Given the description of an element on the screen output the (x, y) to click on. 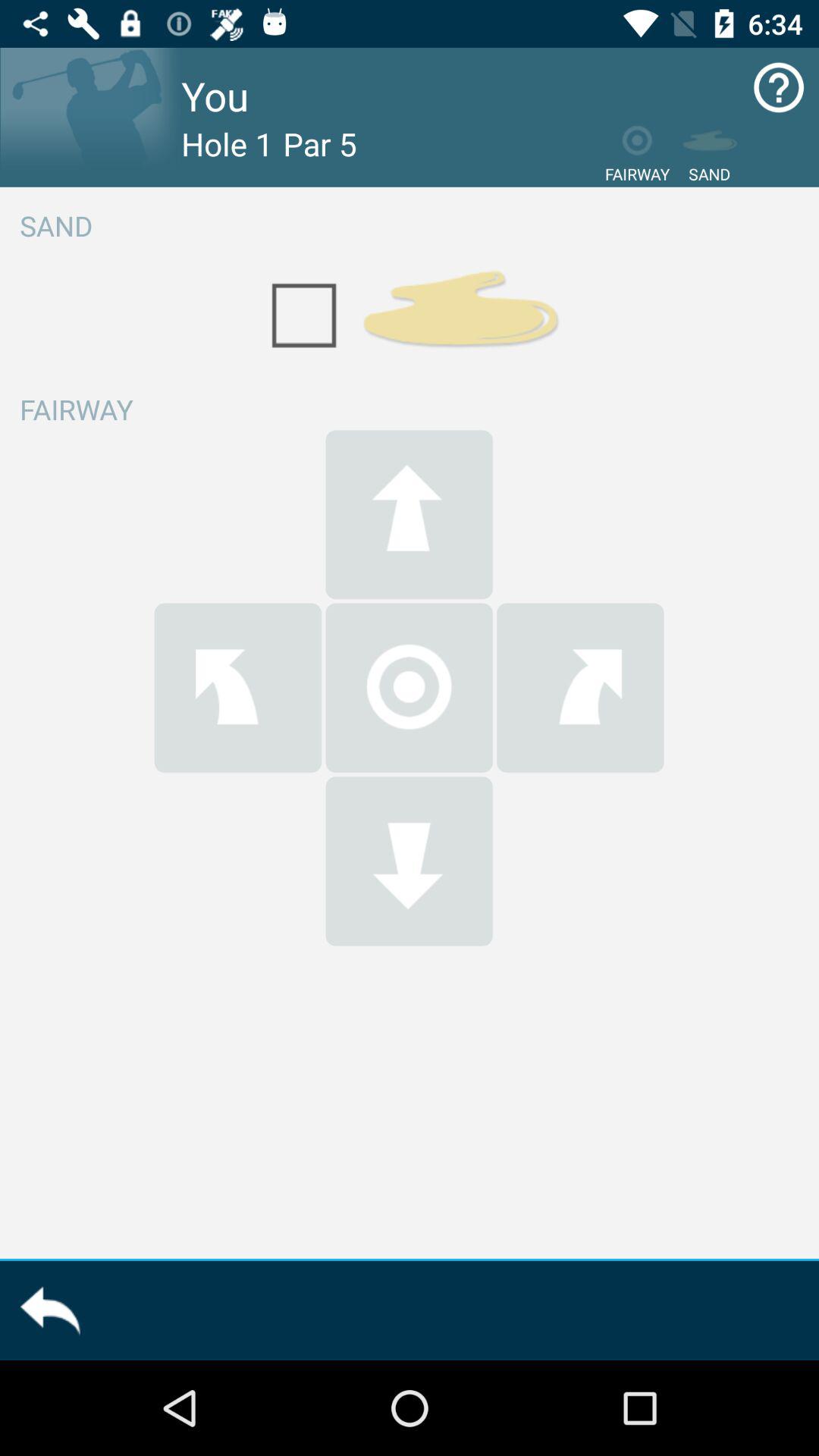
up (408, 514)
